Given the description of an element on the screen output the (x, y) to click on. 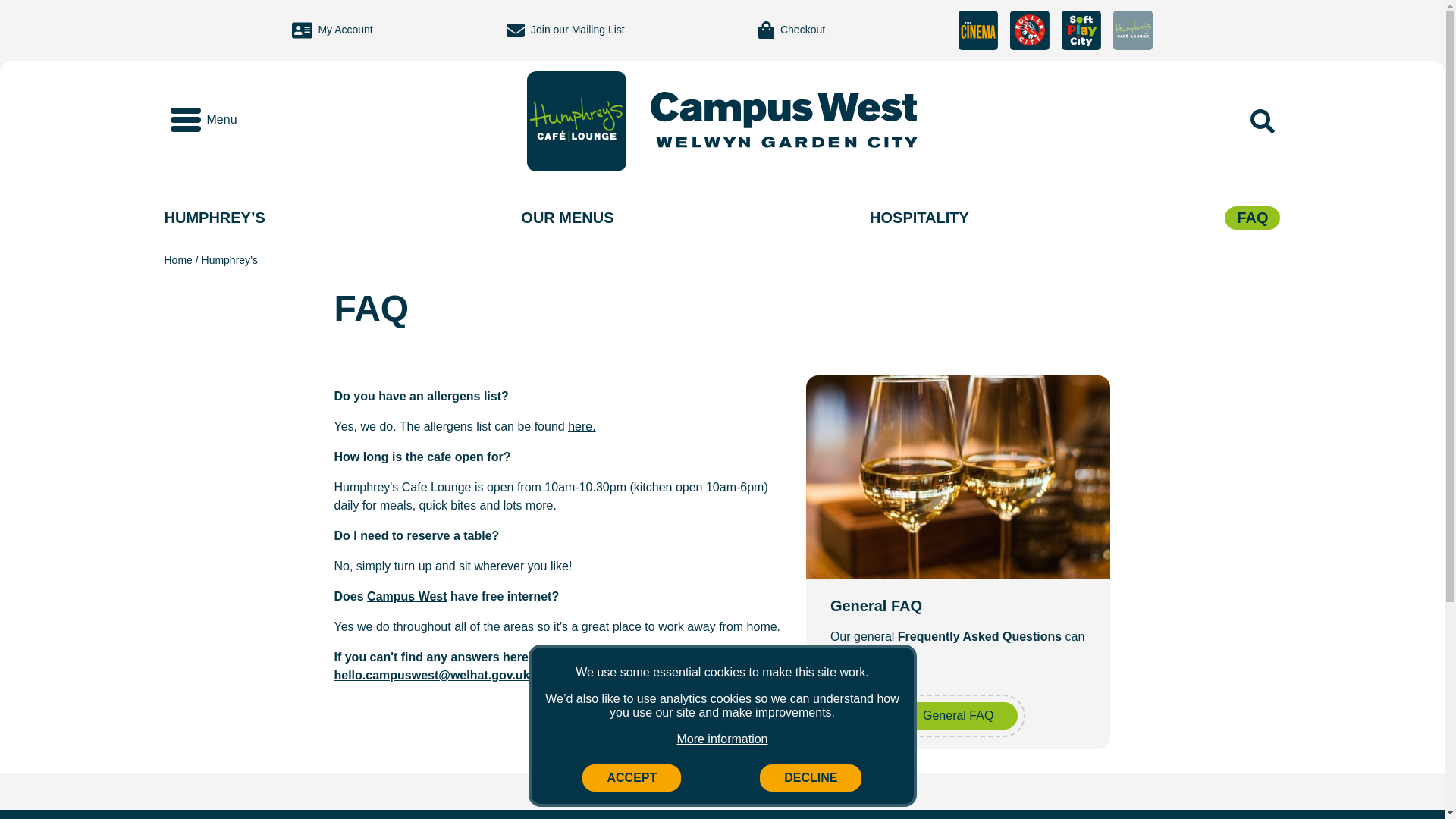
ACCEPT (631, 777)
Soft Play City (1080, 29)
Roller City (1029, 29)
Menu (203, 119)
Campus West Home (784, 121)
My Account (331, 30)
Menu (203, 119)
Search (1261, 120)
The Cinema (977, 29)
